Given the description of an element on the screen output the (x, y) to click on. 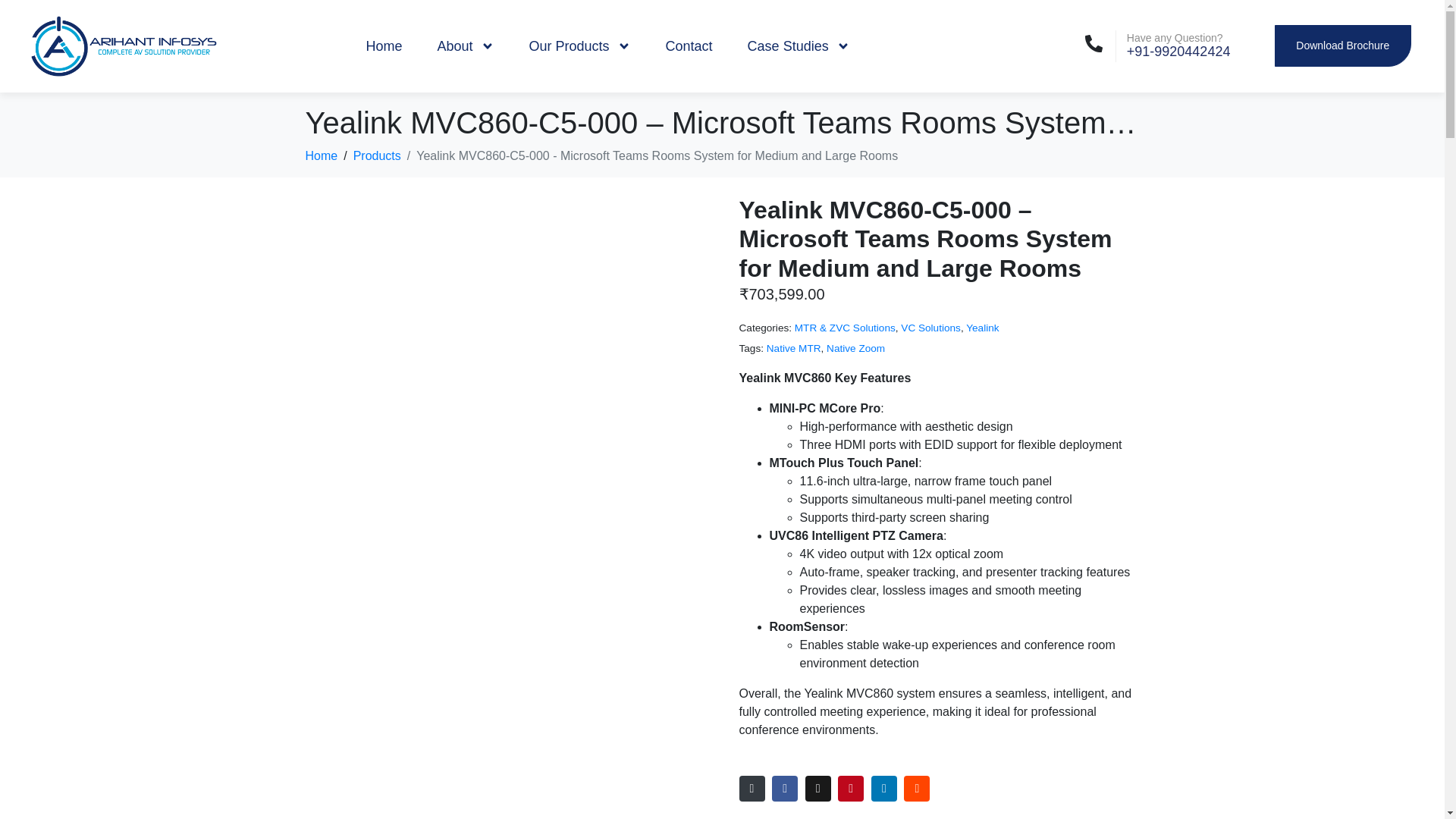
Contact (688, 46)
About (464, 46)
Our Products (580, 46)
Home (383, 46)
Case Studies (798, 46)
